Given the description of an element on the screen output the (x, y) to click on. 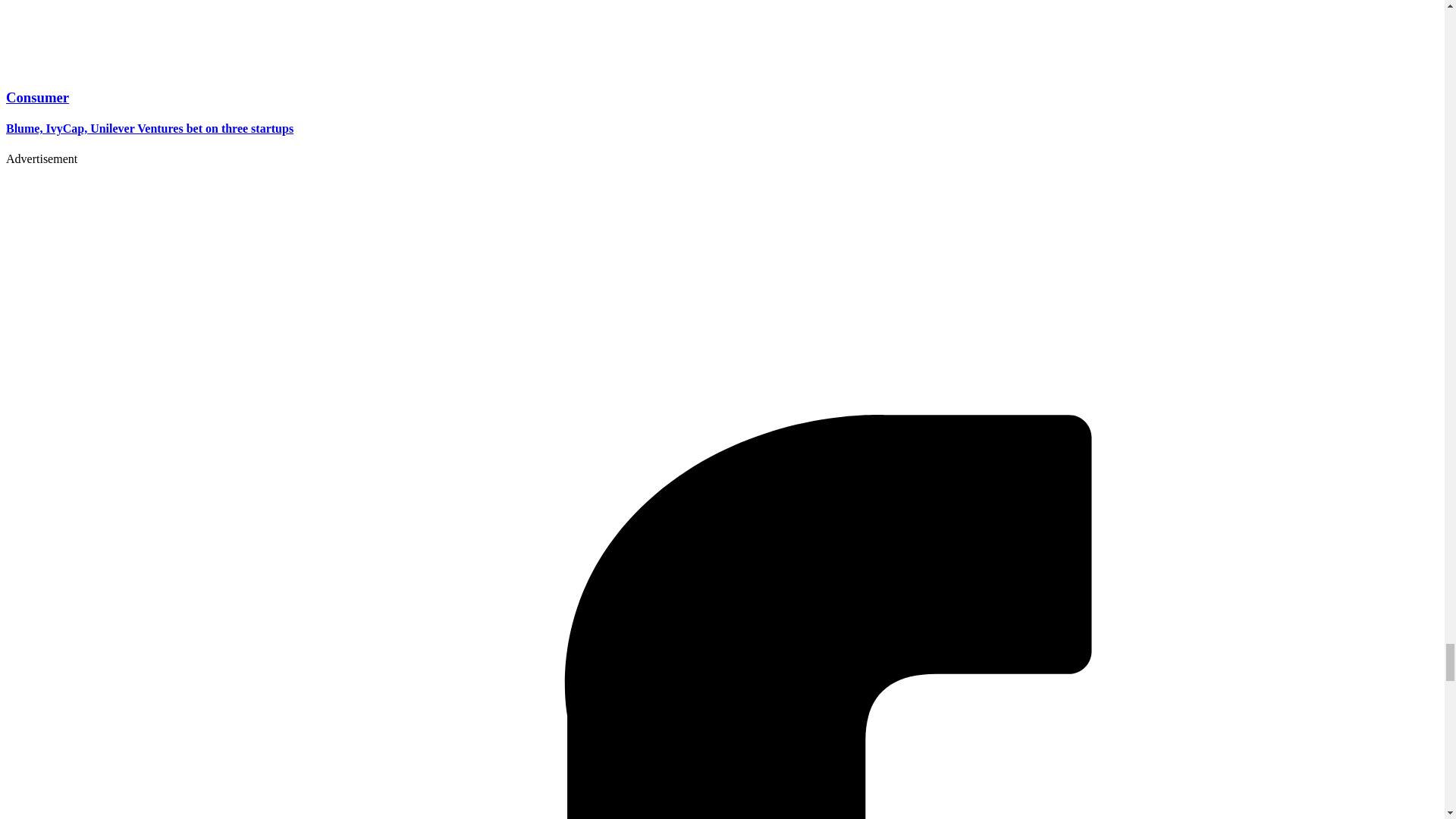
Mosaic Digital (100, 370)
